Given the description of an element on the screen output the (x, y) to click on. 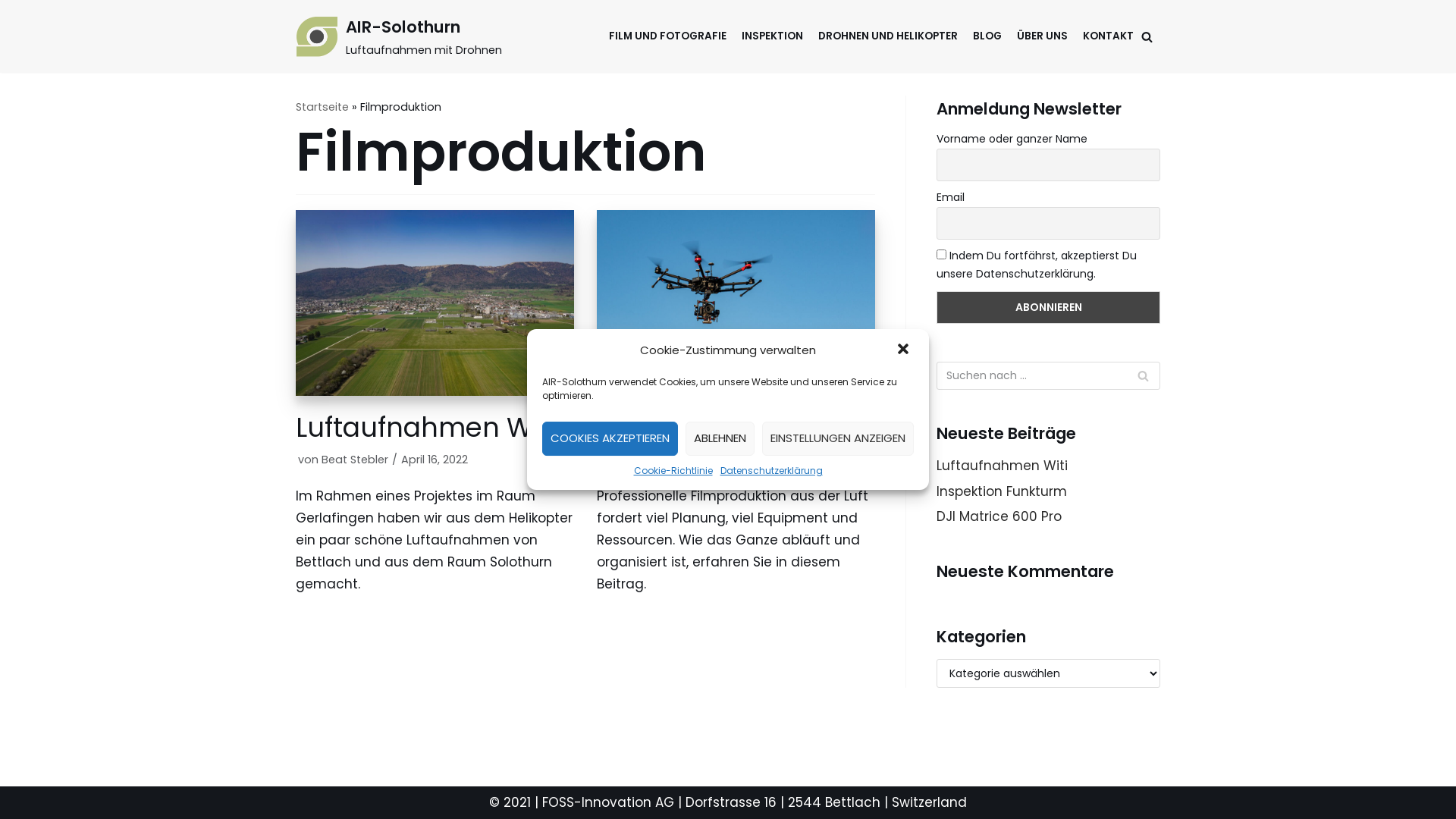
BLOG Element type: text (986, 36)
Luftaufnahmen Witi Element type: text (424, 426)
ABLEHNEN Element type: text (719, 438)
Startseite Element type: text (321, 106)
FILM UND FOTOGRAFIE Element type: text (667, 36)
DJI Matrice 600 Pro Element type: text (998, 516)
Beat Stebler Element type: text (655, 459)
Abonnieren Element type: text (1048, 307)
Beat Stebler Element type: text (354, 459)
Inspektion Funkturm Element type: text (1001, 491)
Luftaufnahmen Witi Element type: hover (434, 306)
DJI Matrice 600 Pro Element type: text (722, 426)
Cookie-Richtlinie Element type: text (672, 470)
Luftaufnahmen Witi Element type: text (1001, 465)
KONTAKT Element type: text (1107, 36)
EINSTELLUNGEN ANZEIGEN Element type: text (837, 438)
DROHNEN UND HELIKOPTER Element type: text (887, 36)
AIR-Solothurn
Luftaufnahmen mit Drohnen Element type: text (398, 36)
INSPEKTION Element type: text (772, 36)
COOKIES AKZEPTIEREN Element type: text (609, 438)
Zum Inhalt springen Element type: text (15, 7)
DJI Matrice 600 Pro Element type: hover (735, 306)
